Given the description of an element on the screen output the (x, y) to click on. 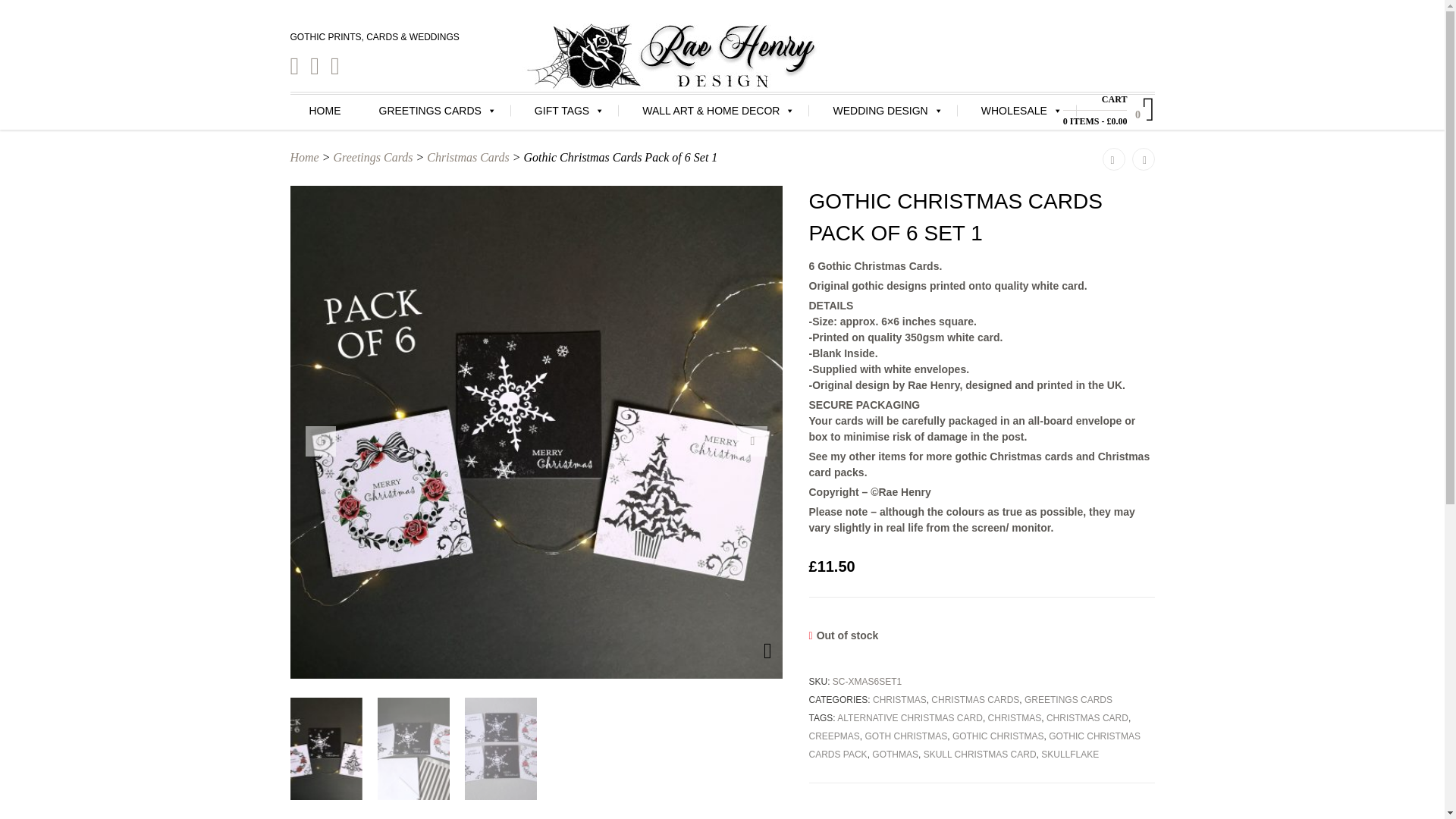
GIFT TAGS (569, 110)
WEDDING DESIGN (886, 110)
GREETINGS CARDS (437, 110)
HOME (324, 110)
Previous Product (1113, 159)
Next Product (1142, 159)
View your shopping cart (1094, 120)
